Given the description of an element on the screen output the (x, y) to click on. 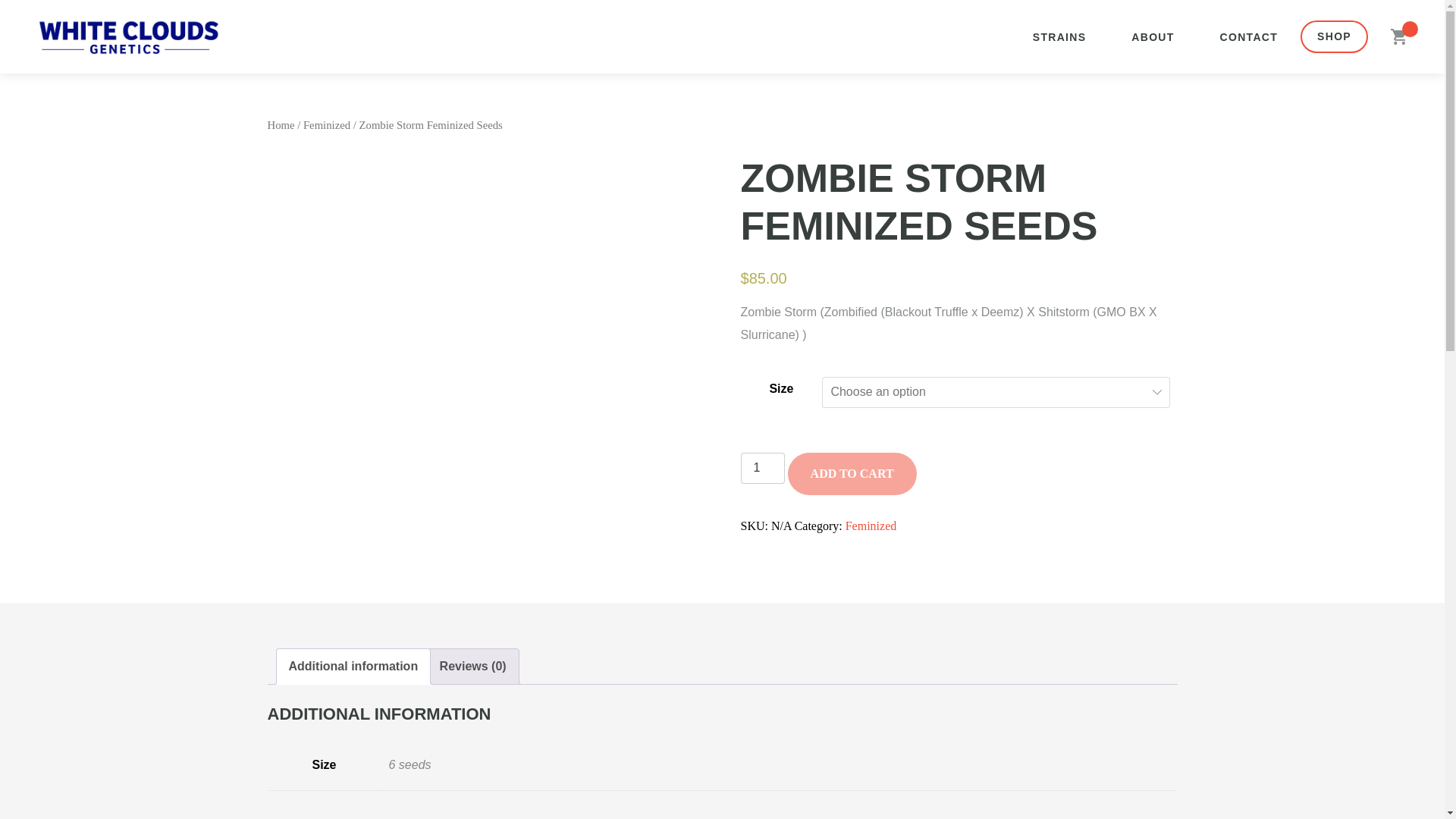
view cart (1398, 36)
SHOP (1334, 37)
ADD TO CART (852, 473)
Home (280, 124)
Feminized (870, 524)
home (128, 36)
Additional information (352, 666)
1 (761, 467)
Feminized (326, 124)
CONTACT (1248, 36)
ABOUT (1152, 36)
STRAINS (1059, 36)
